Given the description of an element on the screen output the (x, y) to click on. 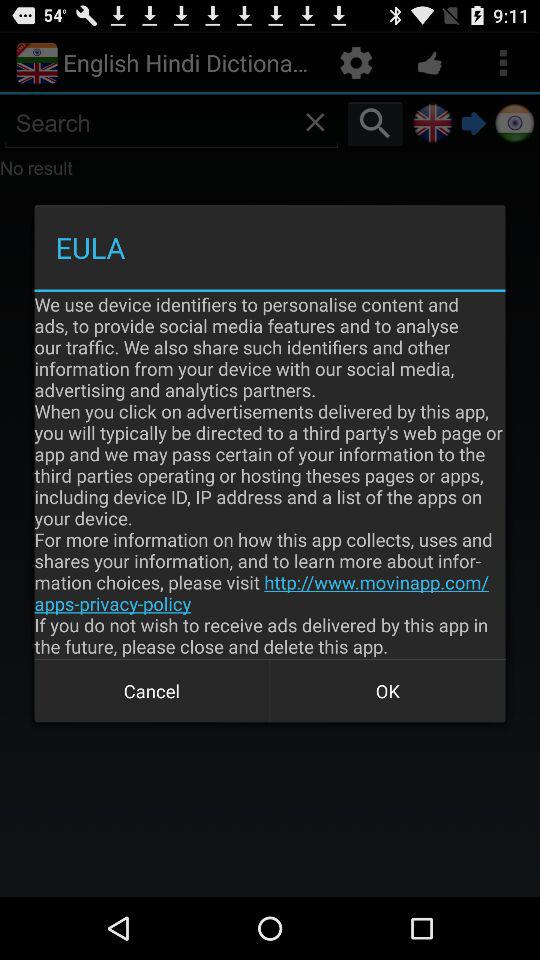
press icon above cancel icon (269, 475)
